Given the description of an element on the screen output the (x, y) to click on. 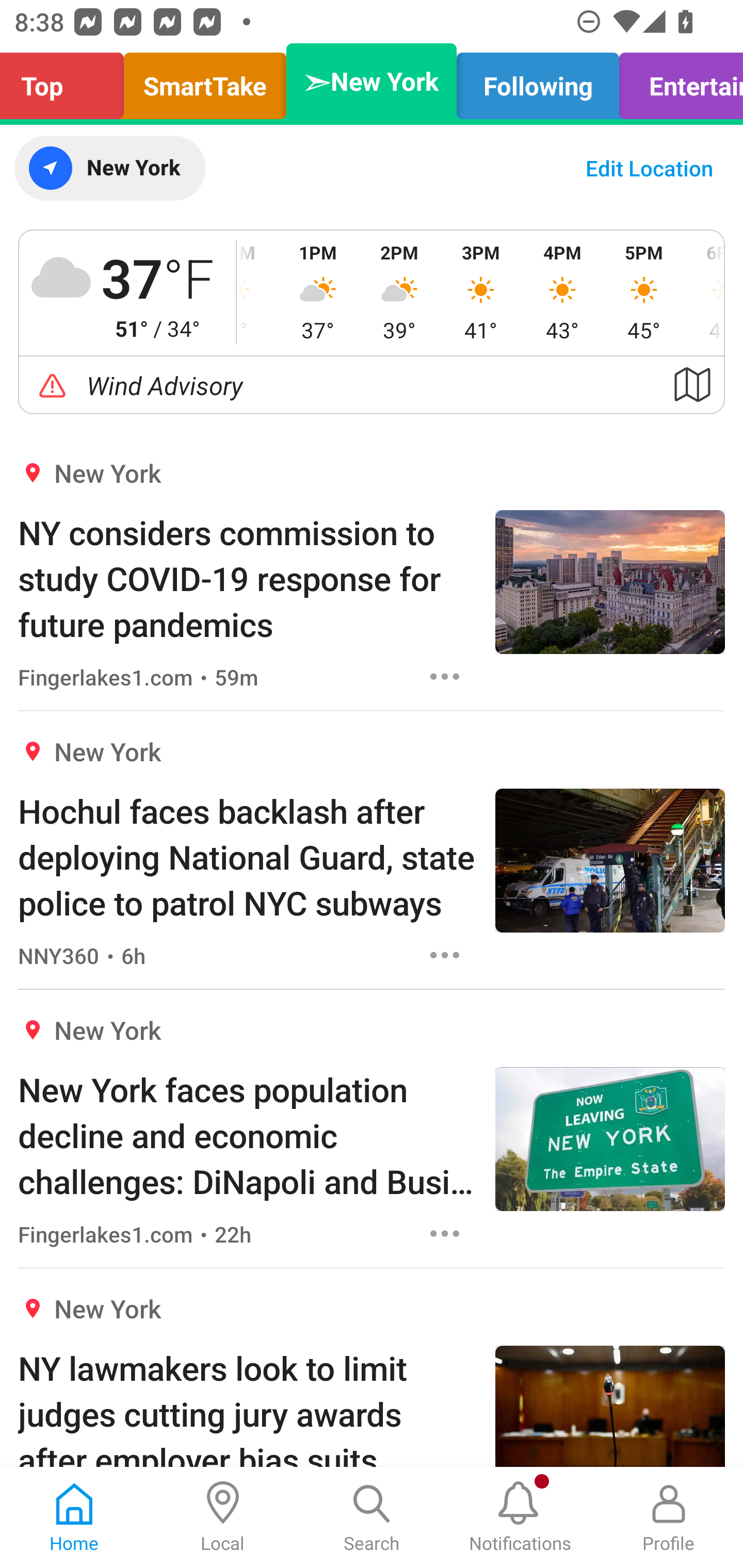
Top (67, 81)
SmartTake (204, 81)
➣New York (371, 81)
Following (537, 81)
New York (109, 168)
Edit Location (648, 168)
1PM 37° (317, 291)
2PM 39° (398, 291)
3PM 41° (480, 291)
4PM 43° (562, 291)
5PM 45° (644, 291)
Wind Advisory (371, 384)
Options (444, 676)
Options (444, 954)
Options (444, 1233)
Local (222, 1517)
Search (371, 1517)
Notifications, New notification Notifications (519, 1517)
Profile (668, 1517)
